Given the description of an element on the screen output the (x, y) to click on. 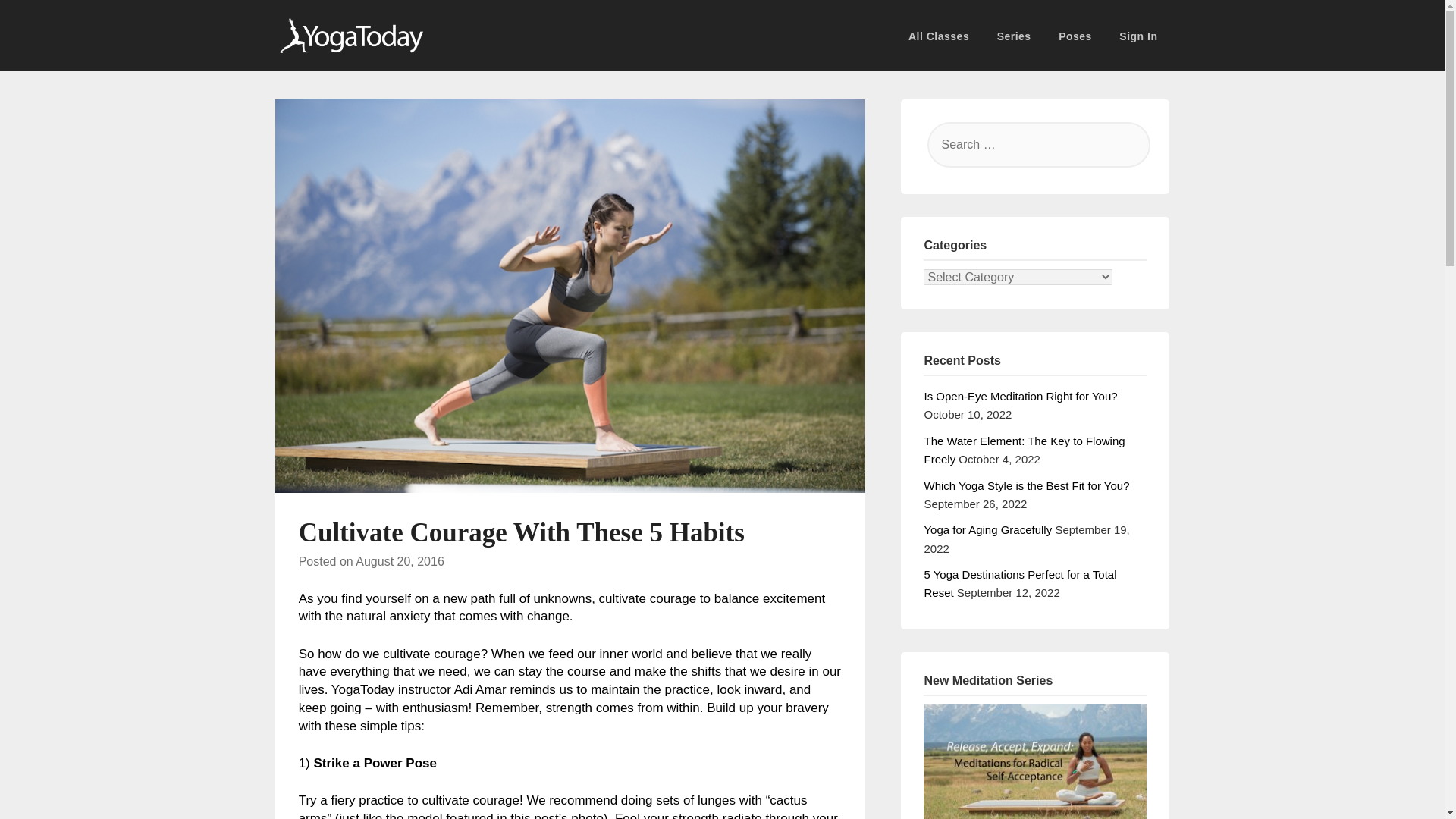
Sign In (1137, 36)
All Classes (944, 36)
Series (1014, 36)
Yoga for Aging Gracefully (987, 529)
Which Yoga Style is the Best Fit for You? (1026, 485)
Search (38, 22)
The Water Element: The Key to Flowing Freely (1023, 450)
5 Yoga Destinations Perfect for a Total Reset (1019, 583)
Is Open-Eye Meditation Right for You? (1019, 395)
Poses (1074, 36)
August 20, 2016 (399, 561)
Happy Healthy Shoulders with Adi Amar (1035, 761)
